Given the description of an element on the screen output the (x, y) to click on. 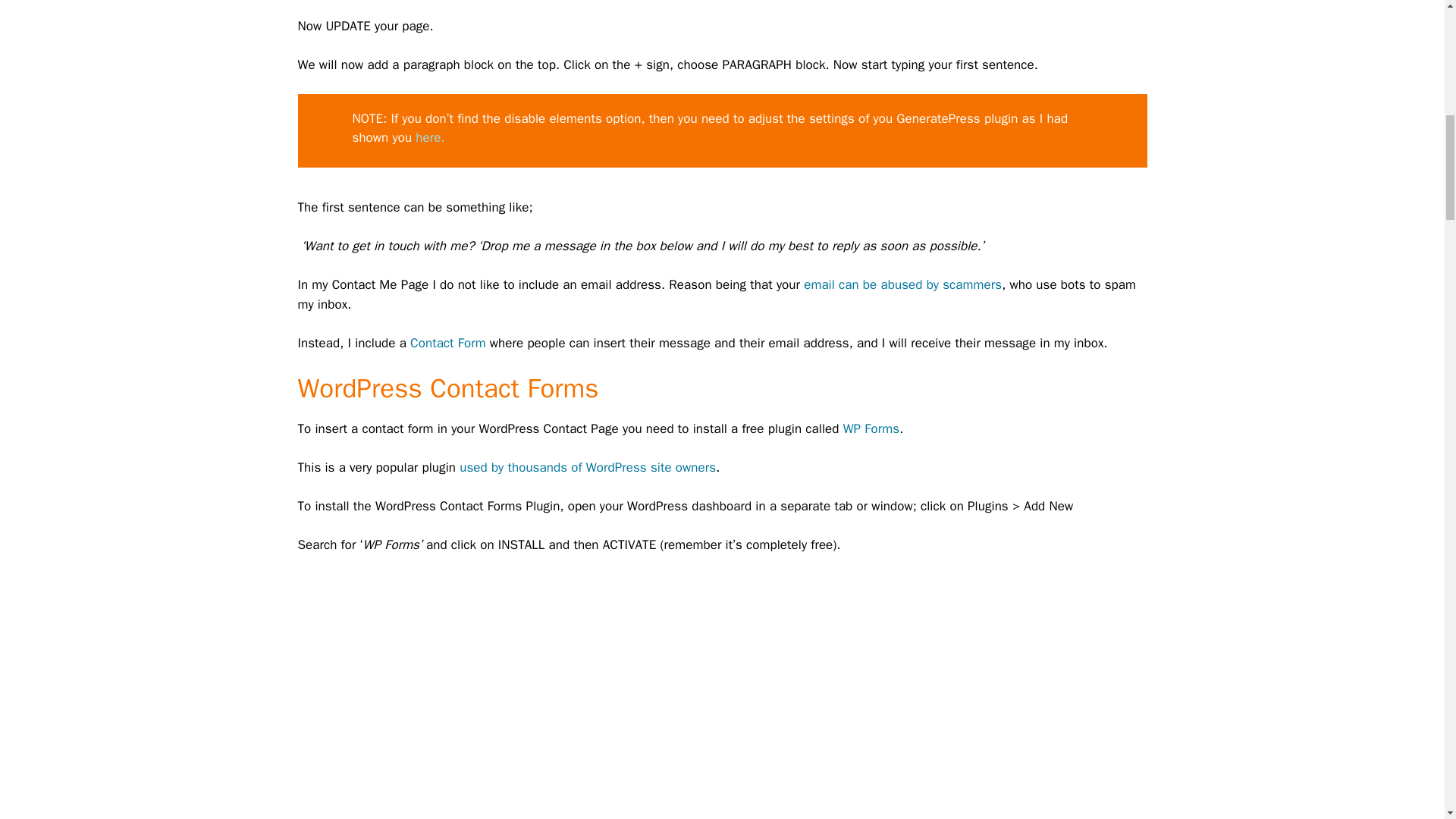
email can be abused by scammers (902, 284)
Contact Form (448, 342)
used by thousands of WordPress site owners (588, 467)
WP Forms (871, 428)
here (427, 137)
